Given the description of an element on the screen output the (x, y) to click on. 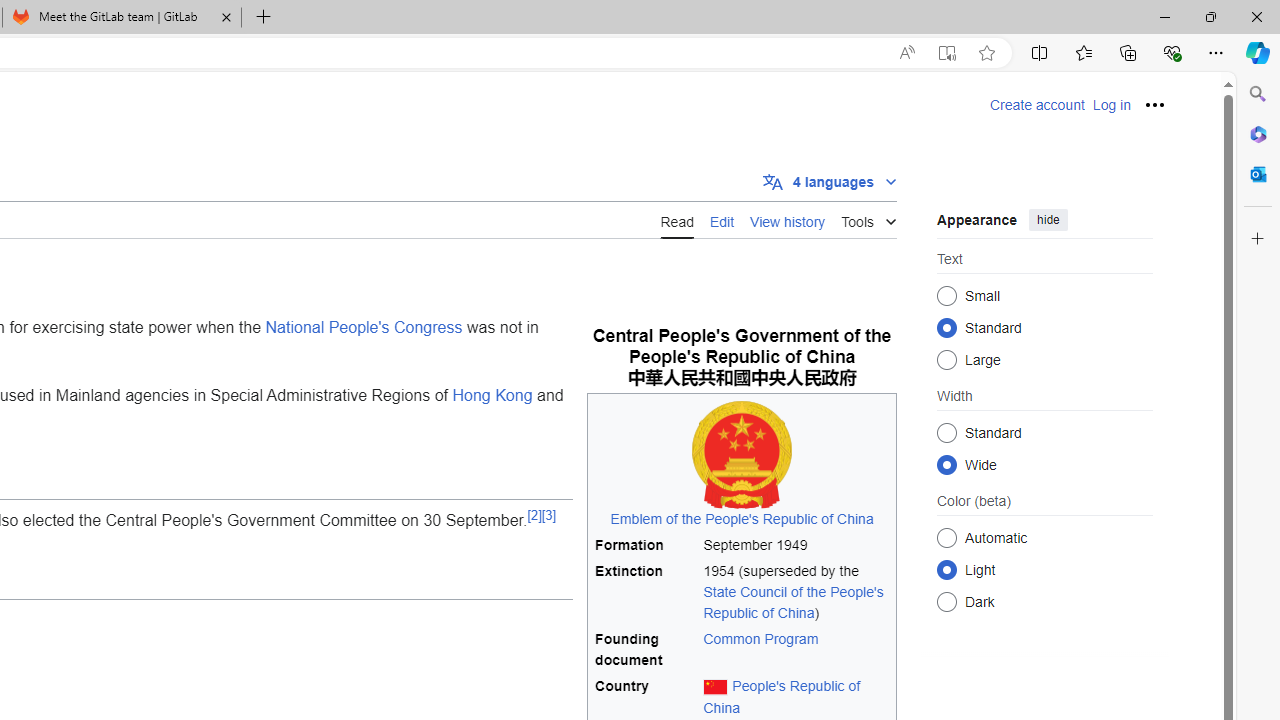
Log in (1111, 105)
Dark (946, 601)
State Council of the People's Republic of China (793, 602)
Standard (946, 431)
September 1949 (795, 544)
Edit (721, 219)
Light (946, 569)
[3] (548, 514)
Common Program (795, 650)
